Given the description of an element on the screen output the (x, y) to click on. 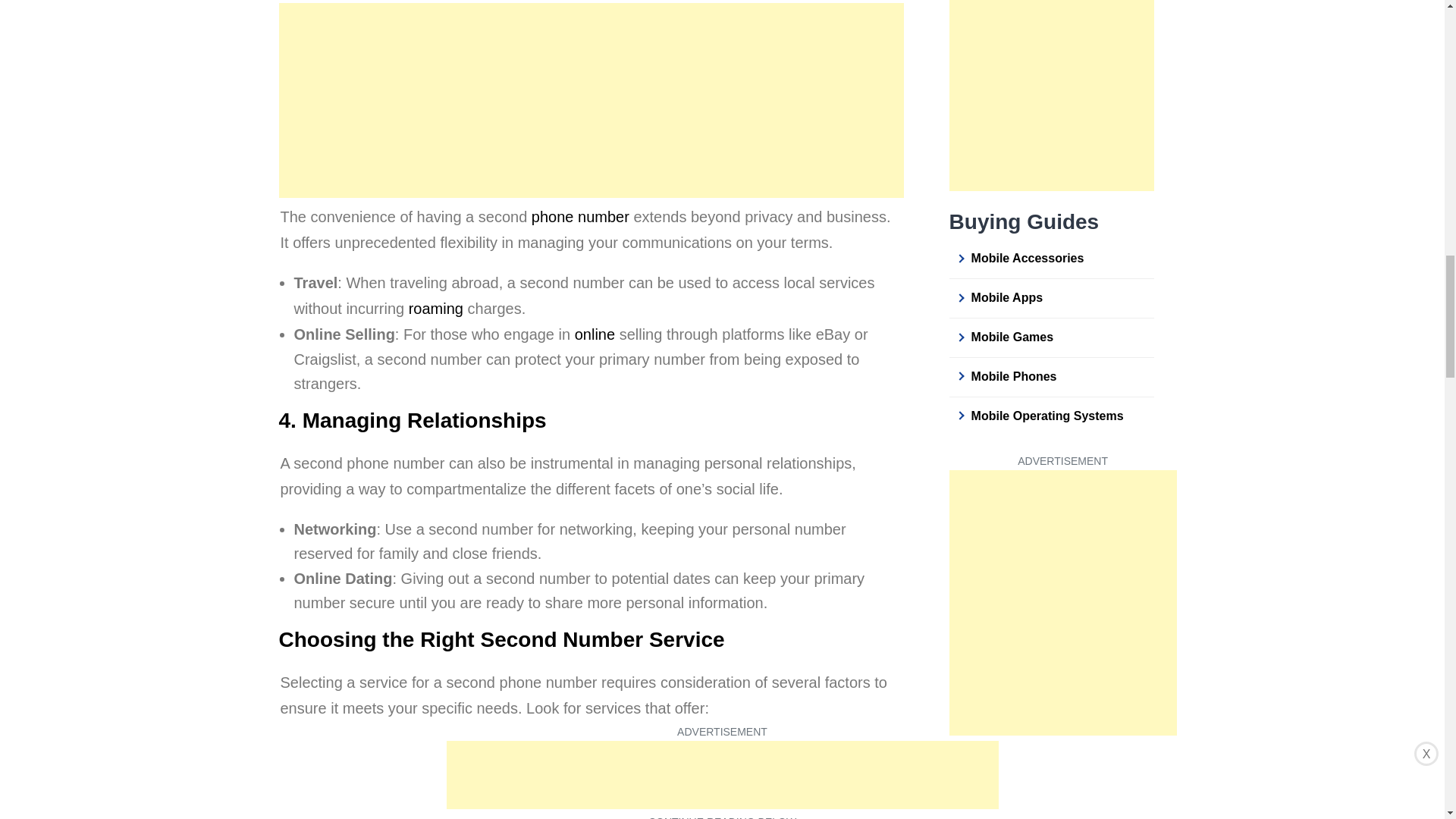
switch (730, 749)
phone number (579, 216)
online (594, 334)
roaming (436, 308)
